Given the description of an element on the screen output the (x, y) to click on. 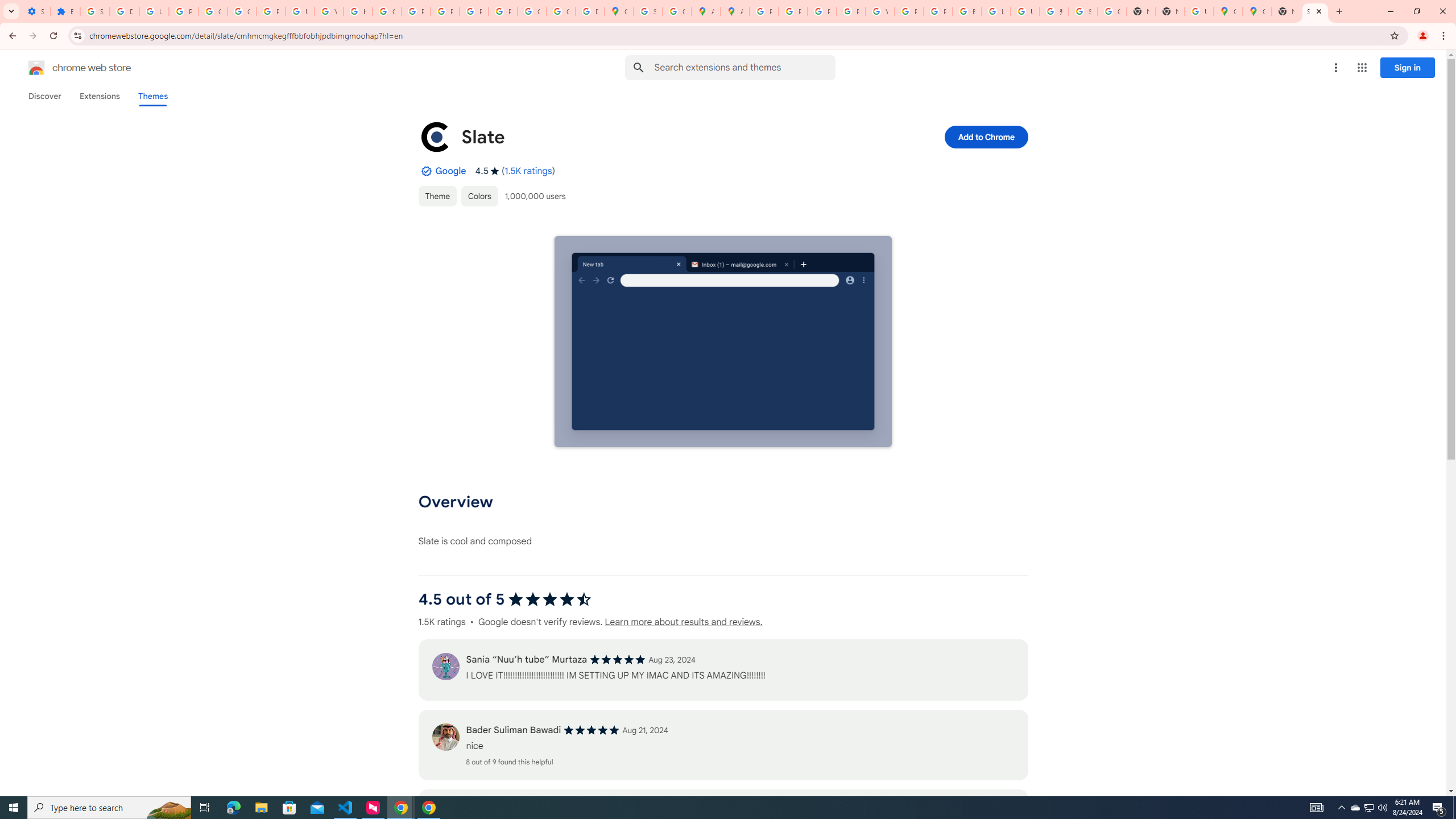
More options menu (1335, 67)
New Tab (1286, 11)
Add to Chrome (985, 136)
Sign in - Google Accounts (648, 11)
Review's profile picture (445, 737)
Create your Google Account (677, 11)
Google Maps (619, 11)
Item logo image for Slate Slate (645, 136)
